Given the description of an element on the screen output the (x, y) to click on. 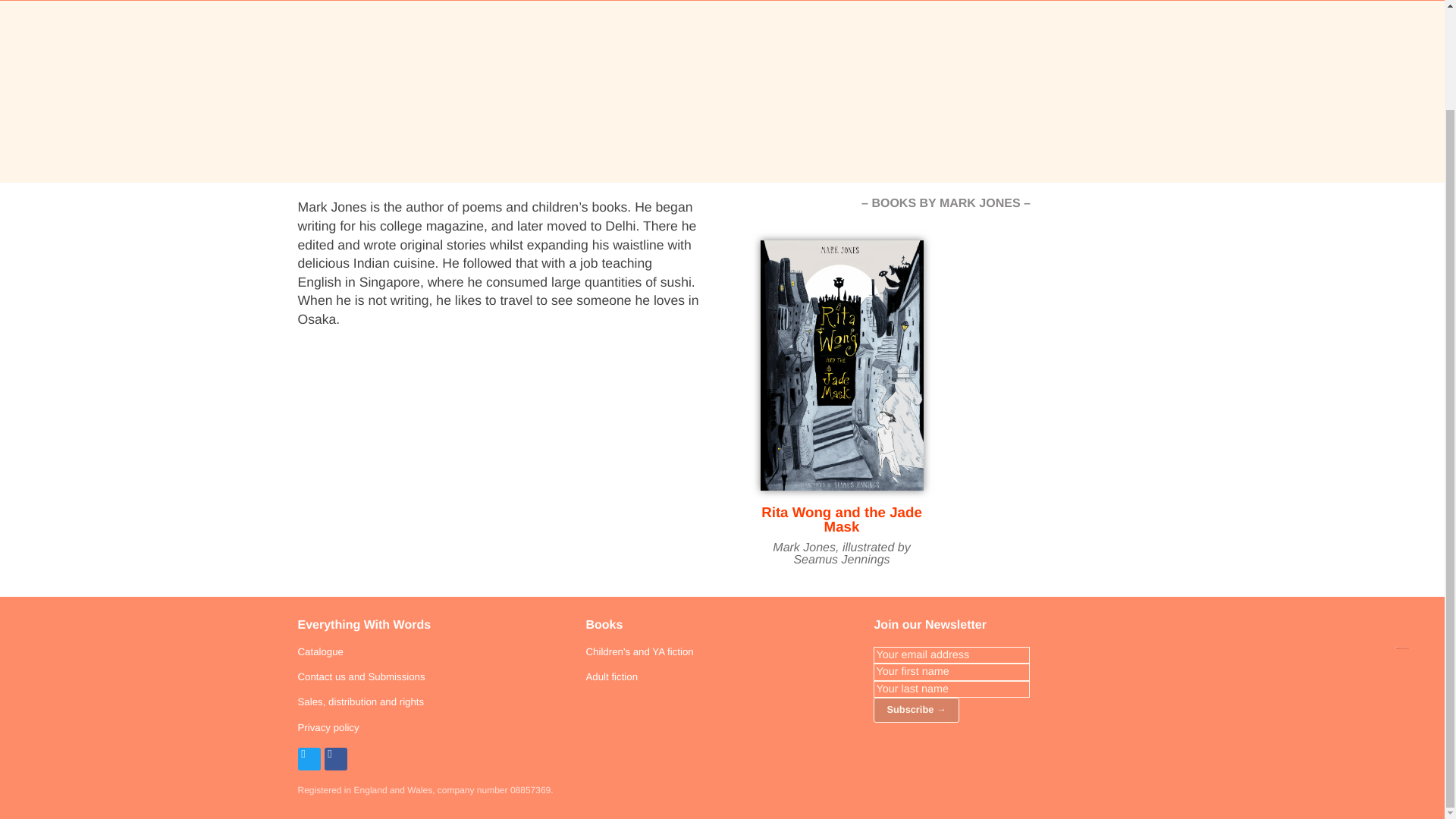
Adult fiction (611, 676)
Everything With Words (363, 625)
Children's and YA fiction (639, 651)
Books (604, 625)
Privacy policy (327, 727)
Sales, distribution and rights (360, 701)
Contact us and Submissions (361, 676)
Catalogue (319, 651)
Rita Wong and the Jade Mask (841, 519)
